Given the description of an element on the screen output the (x, y) to click on. 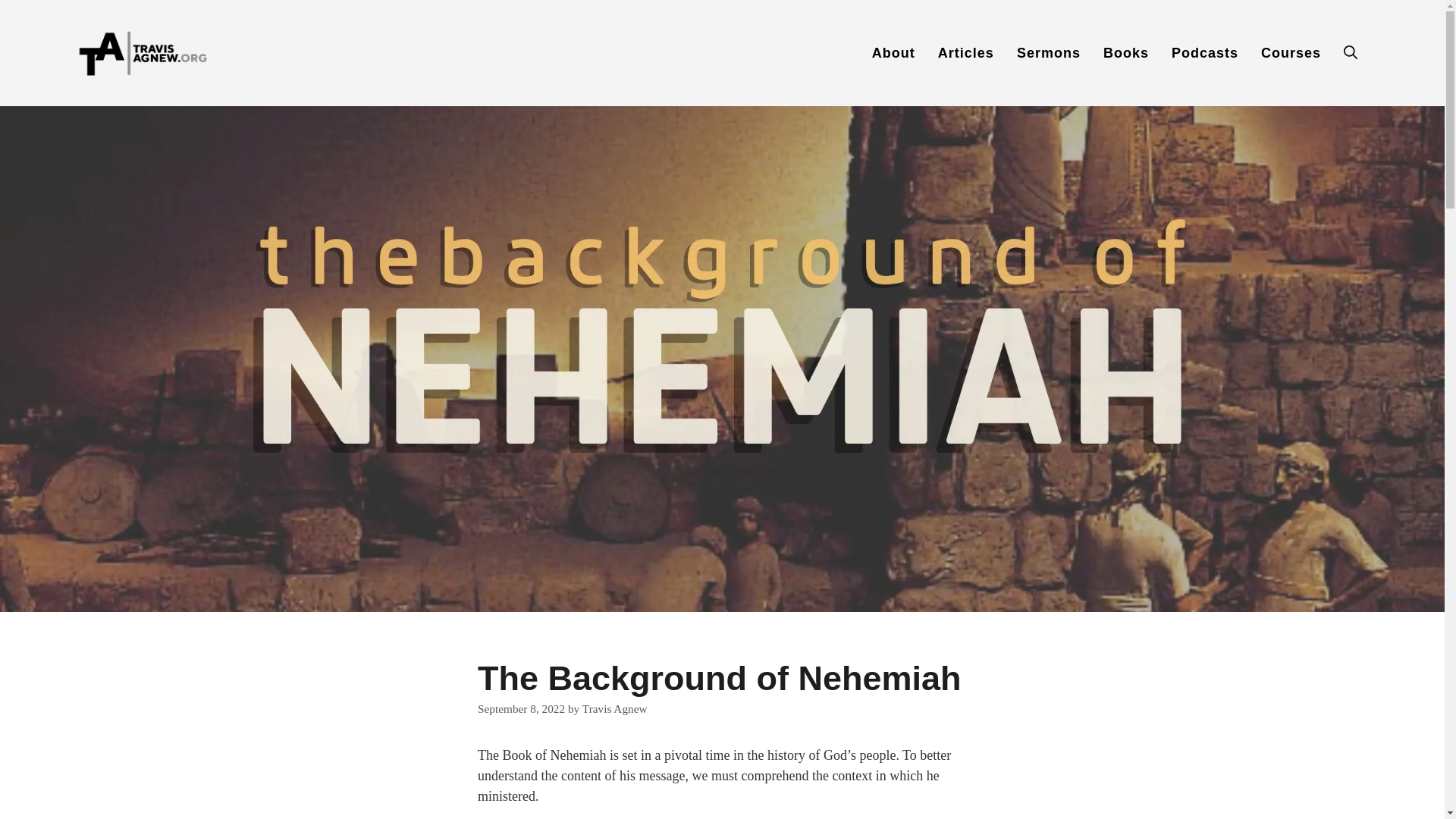
Travis Agnew (614, 707)
Sermons (1049, 52)
Articles (966, 52)
View all posts by Travis Agnew (614, 707)
Podcasts (1204, 52)
Courses (1290, 52)
Books (1126, 52)
